Given the description of an element on the screen output the (x, y) to click on. 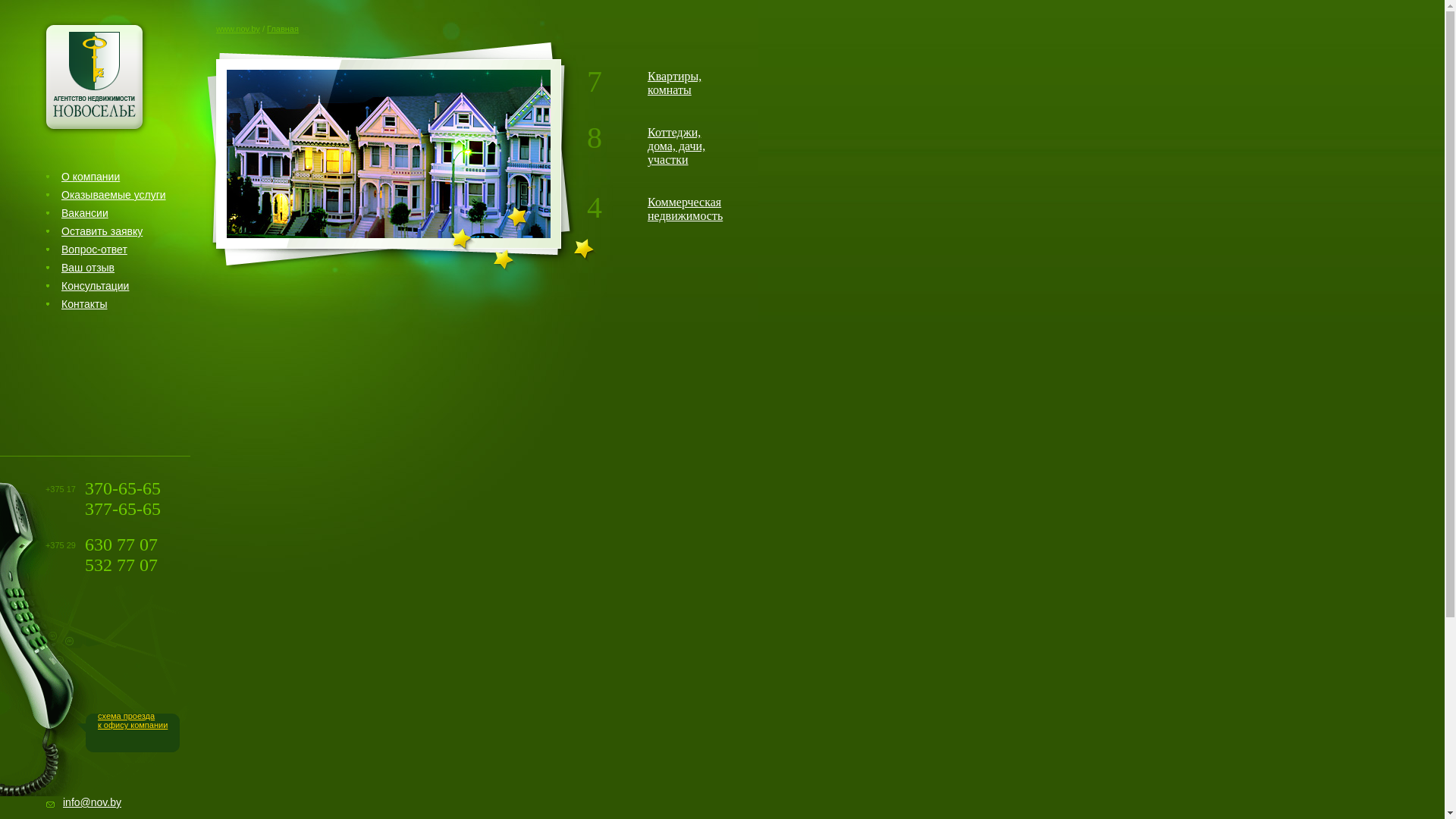
www.nov.by Element type: text (238, 28)
info@nov.by Element type: text (91, 802)
